Given the description of an element on the screen output the (x, y) to click on. 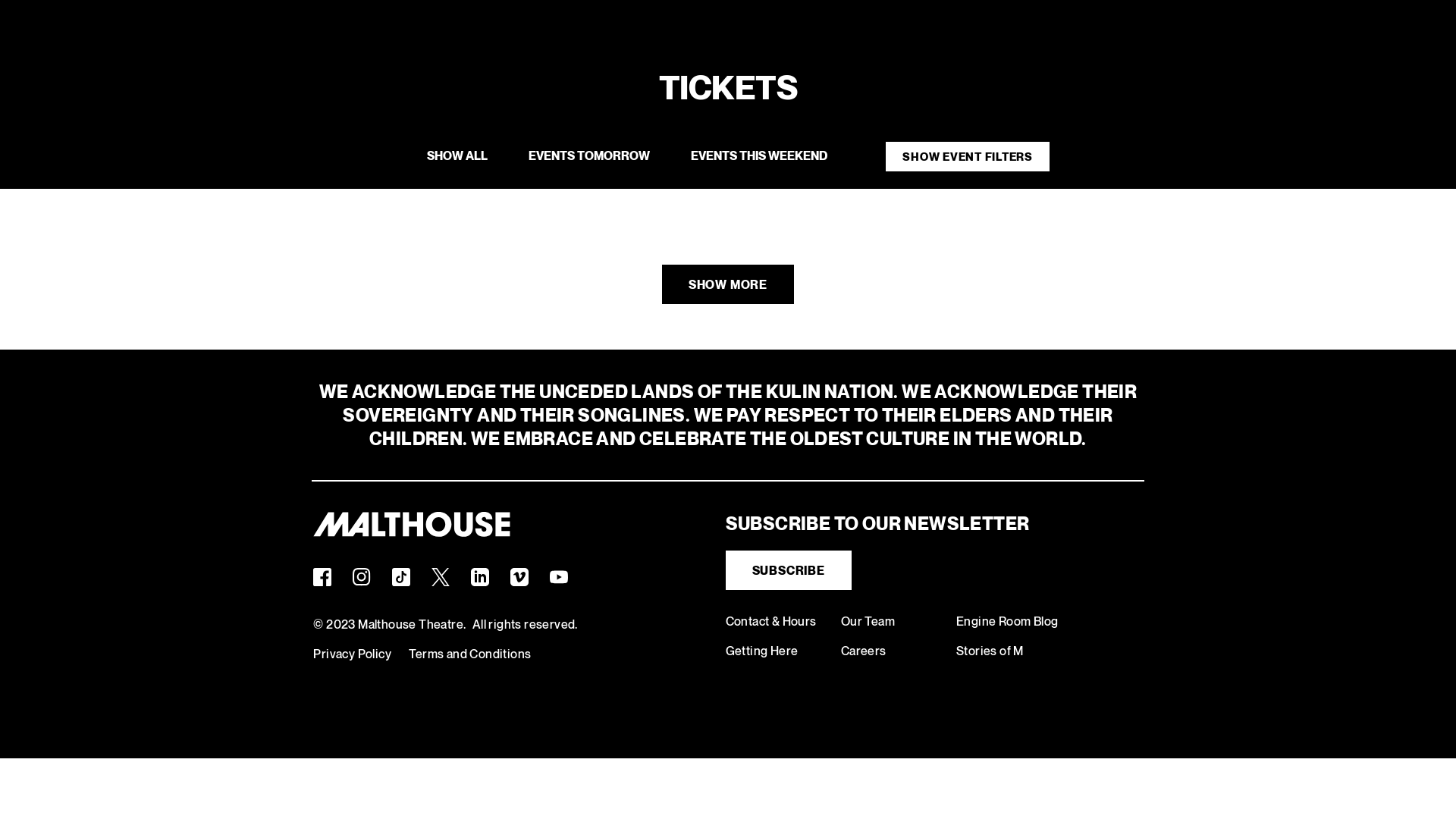
Our Team Element type: text (867, 621)
EVENTS THIS WEEKEND Element type: text (758, 155)
SHOW MORE Element type: text (727, 284)
YouTube icon Element type: text (558, 576)
Engine Room Blog Element type: text (1006, 621)
Facebook icon Element type: text (322, 576)
LinkedIn icon Element type: text (479, 576)
SHOW EVENT FILTERS Element type: text (967, 155)
Tik Tok icon Element type: text (401, 576)
Careers Element type: text (863, 650)
Getting Here Element type: text (761, 650)
Twitter icon Element type: text (440, 576)
Stories of M Element type: text (989, 650)
EVENTS TOMORROW Element type: text (588, 155)
SHOW ALL Element type: text (456, 155)
Contact & Hours Element type: text (770, 621)
Terms and Conditions Element type: text (469, 653)
Vimeo icon Element type: text (519, 576)
SUBSCRIBE Element type: text (788, 569)
Instagram icon Element type: text (361, 576)
Privacy Policy Element type: text (352, 653)
